Given the description of an element on the screen output the (x, y) to click on. 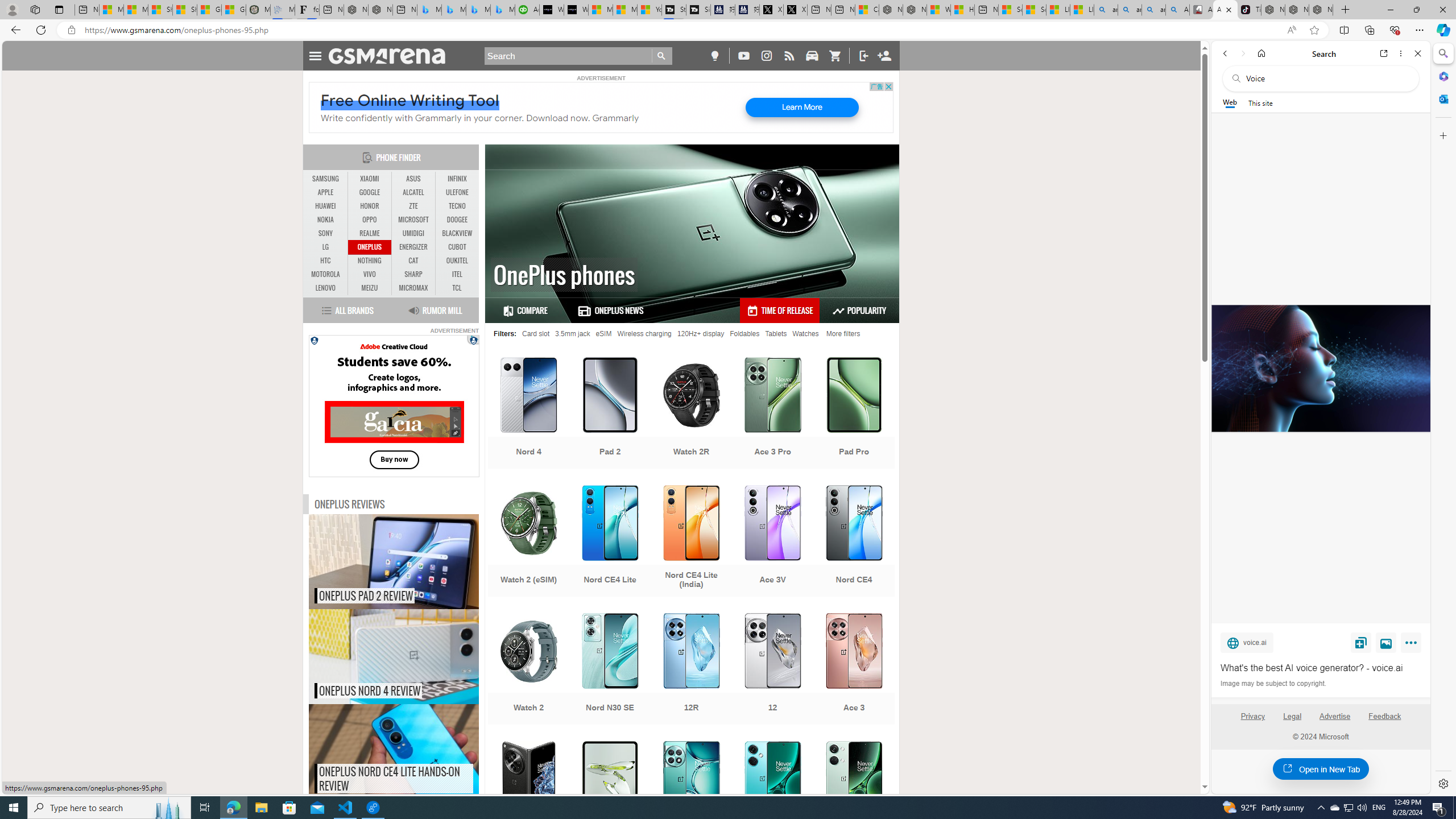
OPPO (369, 219)
Open link in new tab (1383, 53)
View image (1385, 642)
MICROMAX (413, 287)
OnePlus Nord 4 review (417, 656)
Web scope (1230, 102)
HONOR (369, 206)
Nord N30 SE (609, 670)
SHARP (413, 273)
Tablets (775, 333)
